Given the description of an element on the screen output the (x, y) to click on. 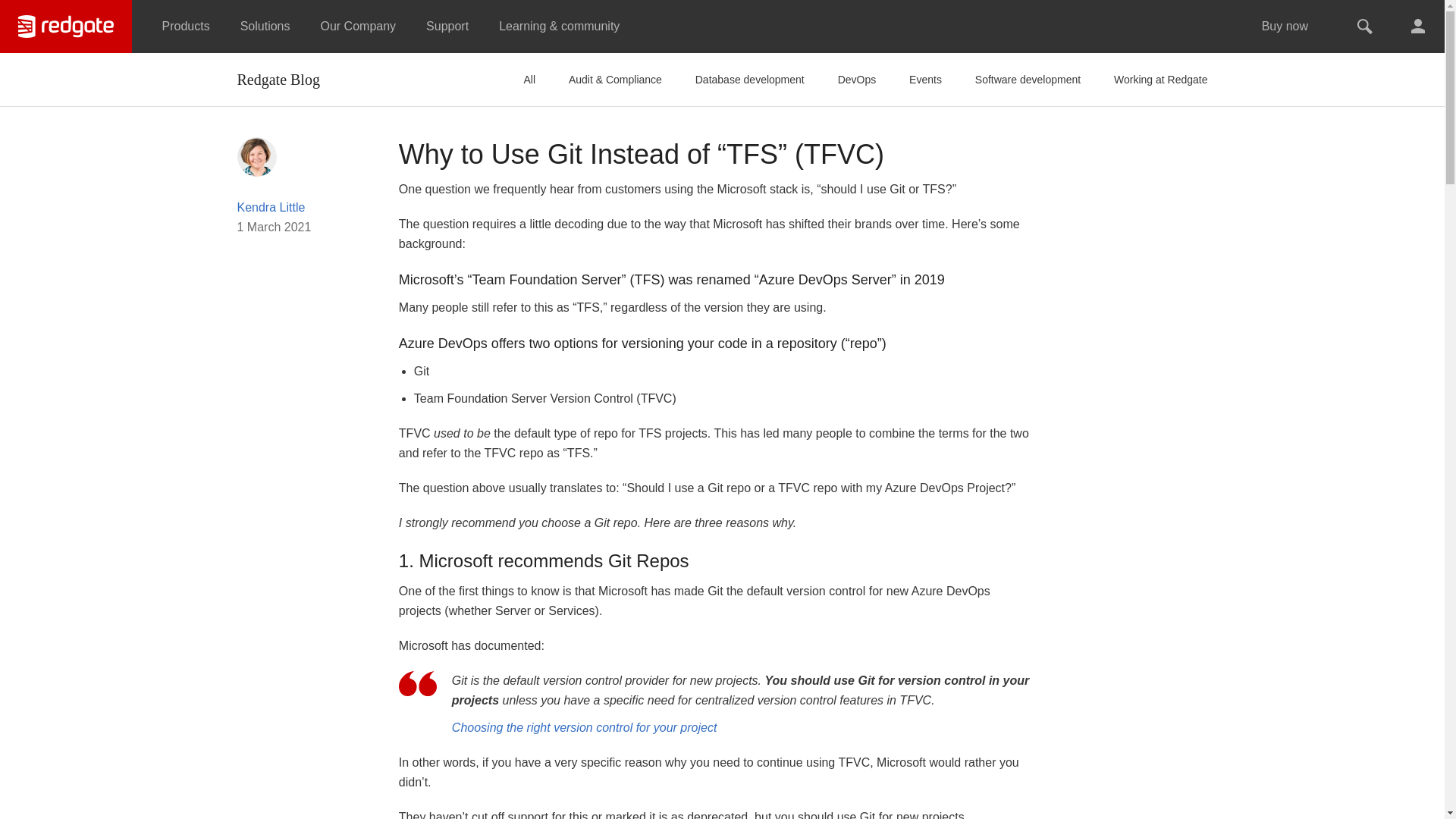
Buy now (1284, 26)
Kendra Little (255, 155)
Search the Redgate website (1364, 26)
Products (186, 26)
Posts by Kendra Little (269, 206)
